Given the description of an element on the screen output the (x, y) to click on. 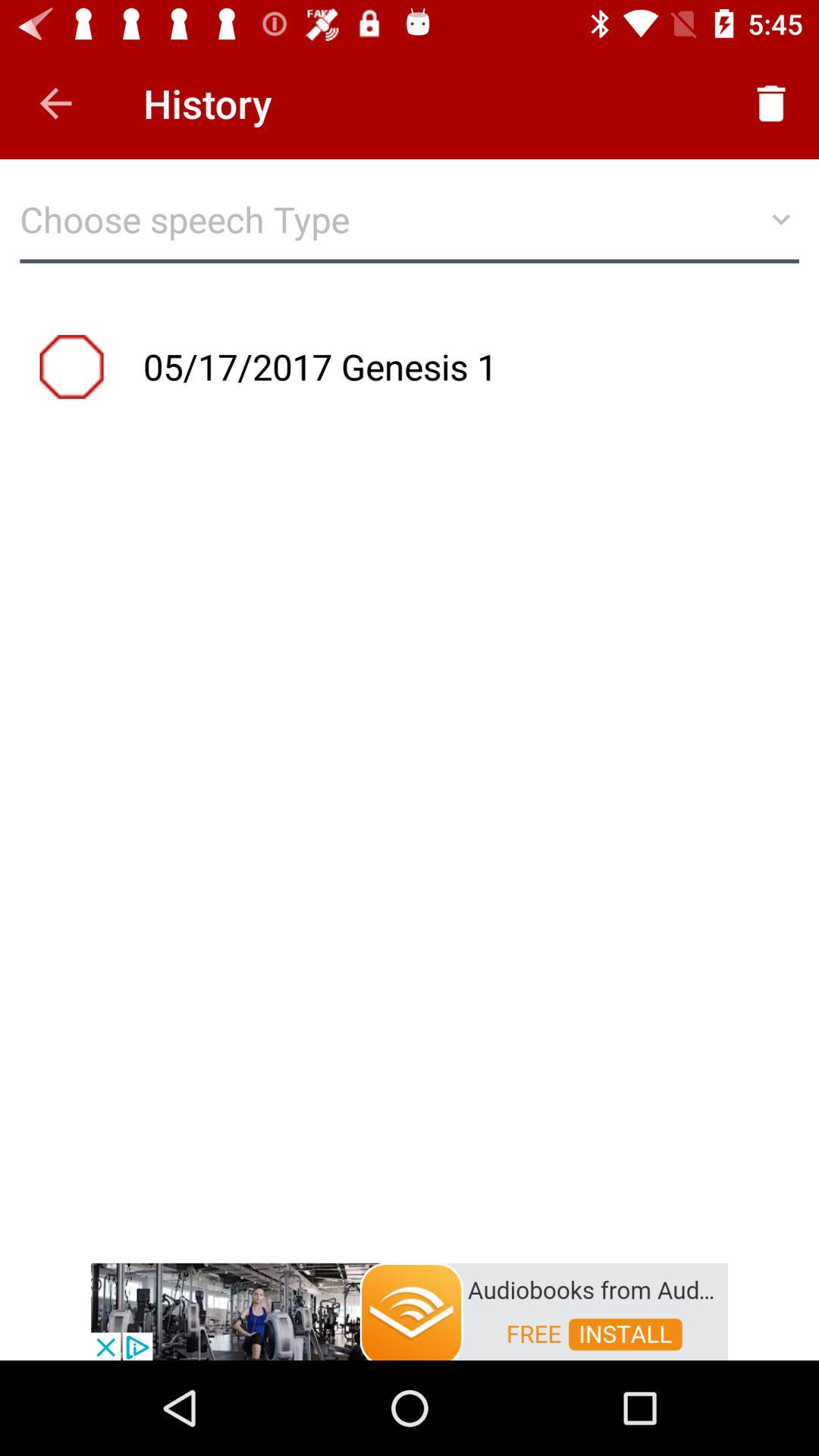
select speech type (409, 227)
